Given the description of an element on the screen output the (x, y) to click on. 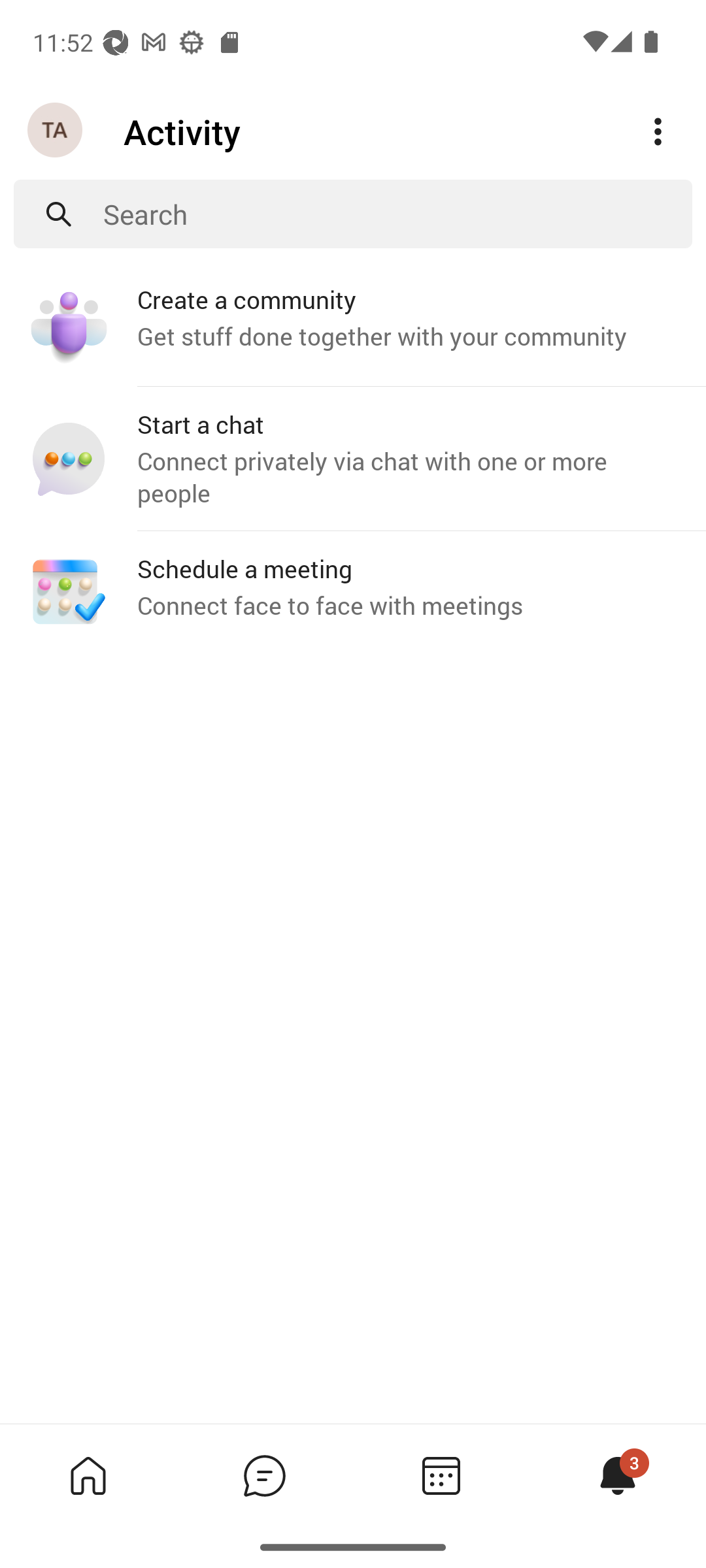
More options (657, 131)
Navigation (56, 130)
Search (397, 213)
Home tab,1 of 4, not selected (88, 1475)
Chat tab,2 of 4, not selected (264, 1475)
Calendar tab,3 of 4, not selected (441, 1475)
Activity tab, 4 of 4, 3 new 3 (617, 1475)
